Given the description of an element on the screen output the (x, y) to click on. 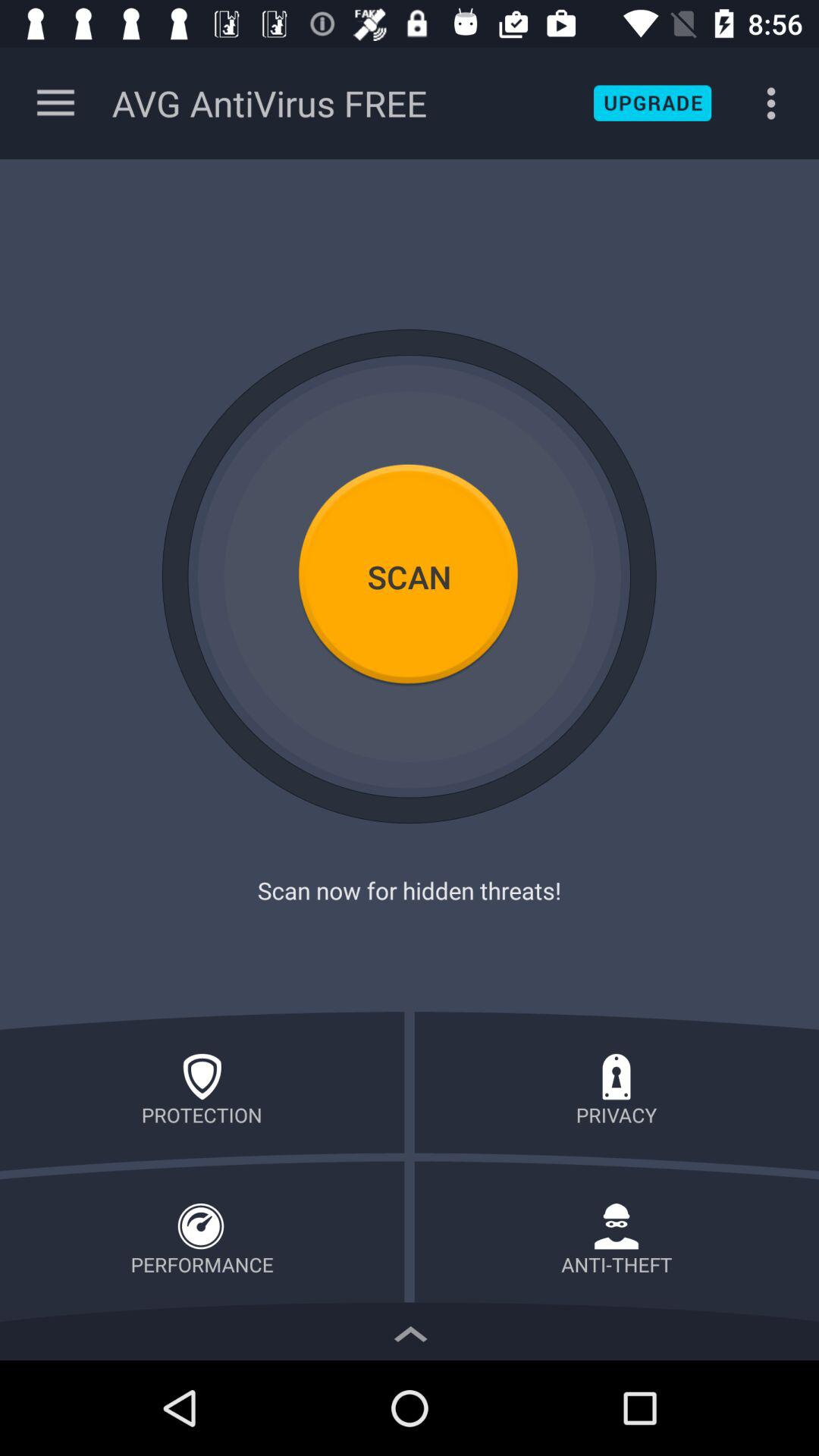
click to show more details (409, 1330)
